Given the description of an element on the screen output the (x, y) to click on. 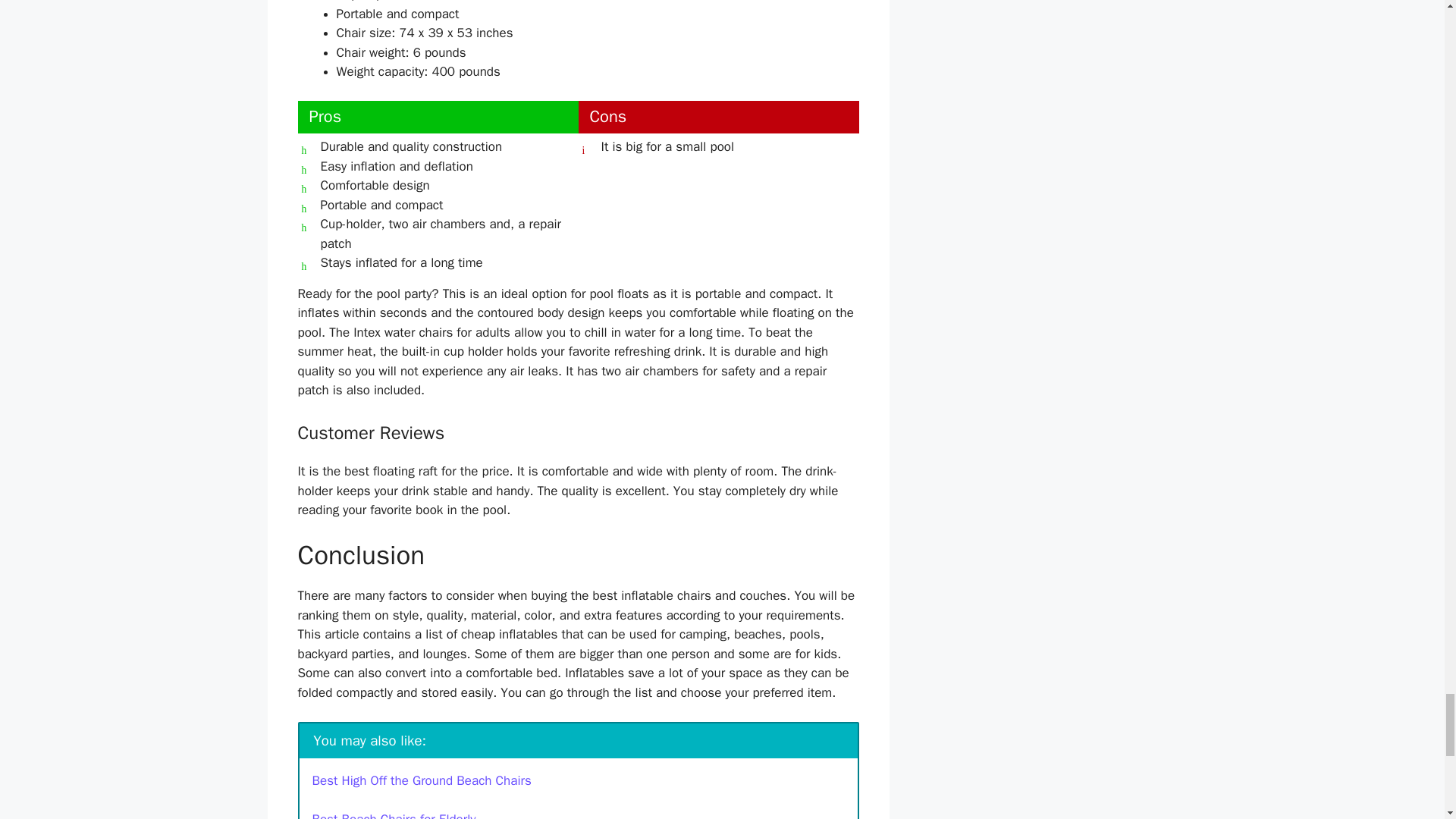
Best High Off the Ground Beach Chairs (422, 780)
Best Beach Chairs for Elderly (394, 815)
